Given the description of an element on the screen output the (x, y) to click on. 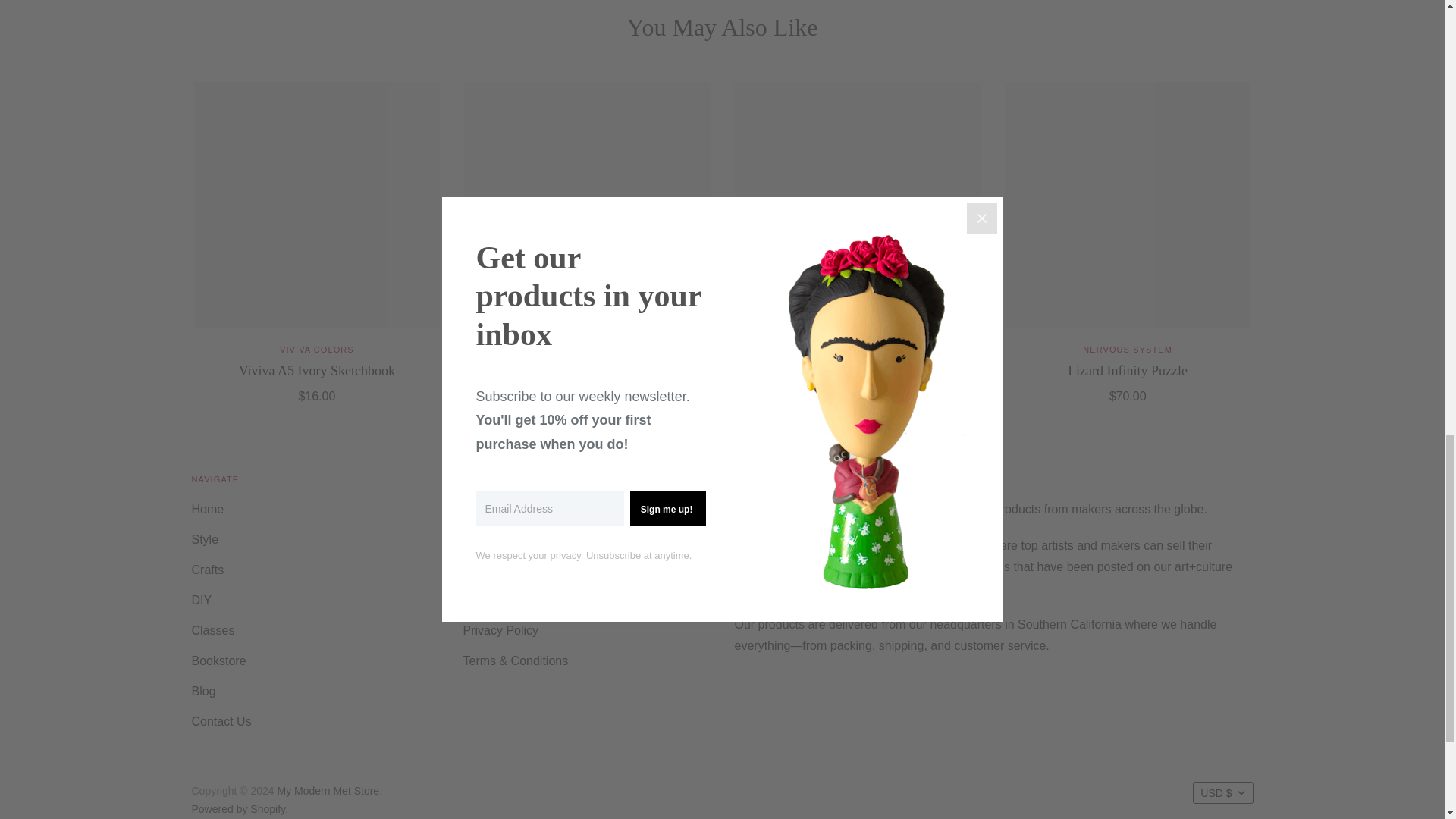
Viviva Colors (858, 348)
Nervous System (586, 348)
Viviva Colors (316, 348)
Nervous System (1127, 348)
